Given the description of an element on the screen output the (x, y) to click on. 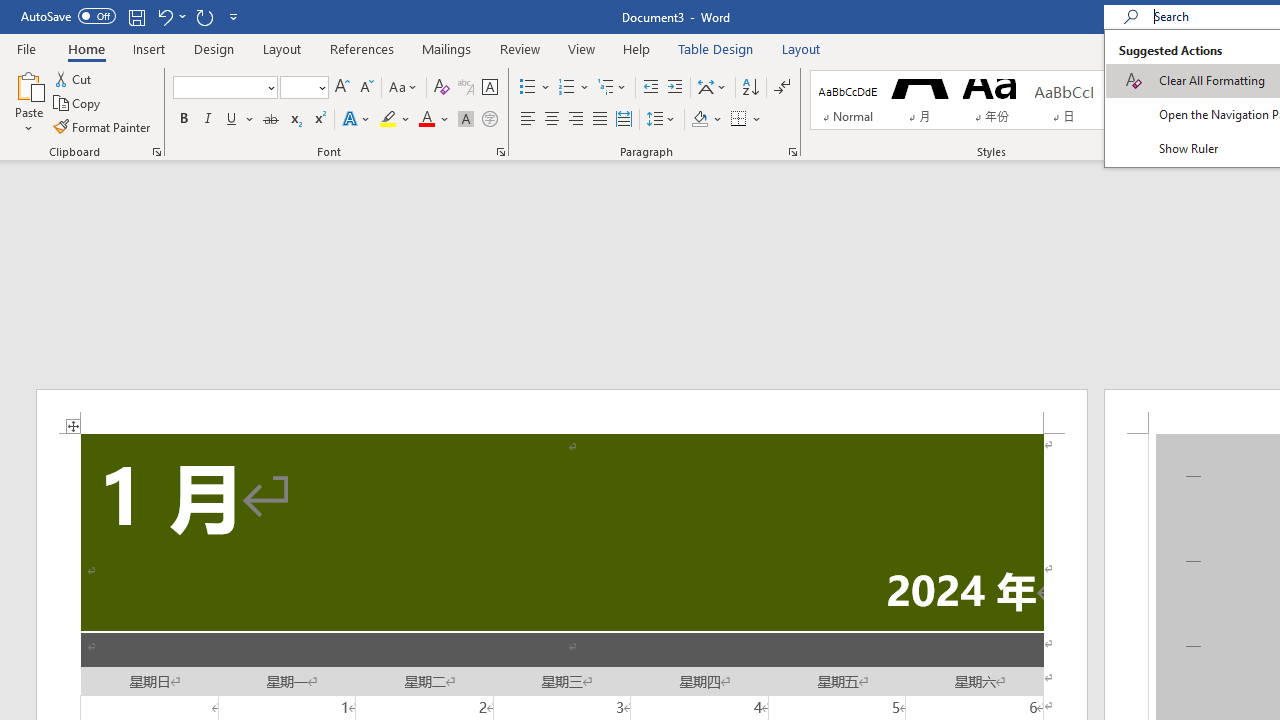
Find (1233, 78)
Text Highlight Color (395, 119)
Justify (599, 119)
Font Size (297, 87)
Styles... (1190, 151)
Styles (1179, 120)
Bold (183, 119)
Font Color RGB(255, 0, 0) (426, 119)
Borders (746, 119)
Home (86, 48)
Shading RGB(0, 0, 0) (699, 119)
Line and Paragraph Spacing (661, 119)
Font (218, 87)
Customize Quick Access Toolbar (234, 15)
